Given the description of an element on the screen output the (x, y) to click on. 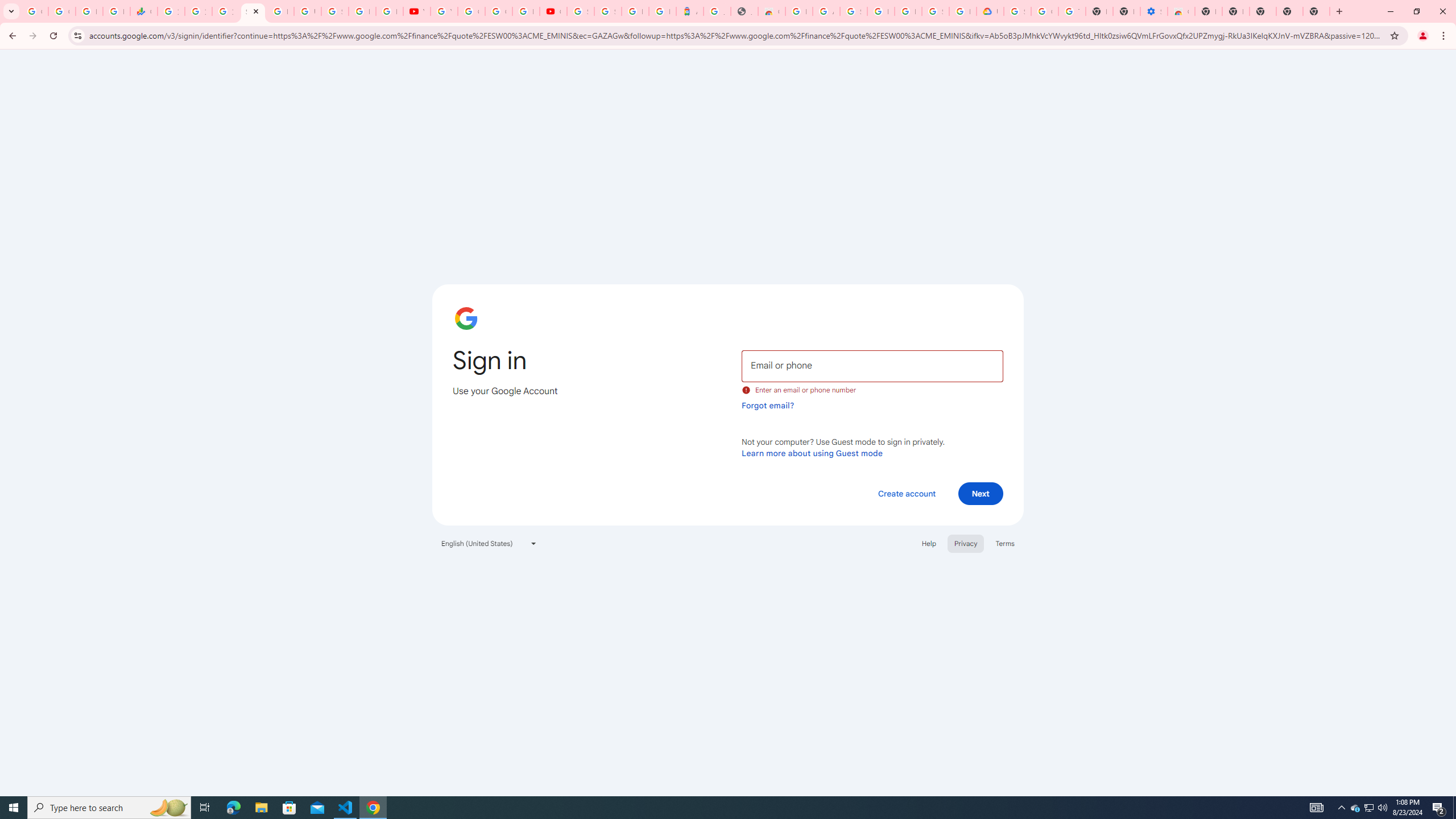
Atour Hotel - Google hotels (690, 11)
Chrome Web Store - Household (771, 11)
Terms (1005, 542)
Sign in - Google Accounts (253, 11)
Learn more about using Guest mode (812, 452)
New Tab (1208, 11)
